Given the description of an element on the screen output the (x, y) to click on. 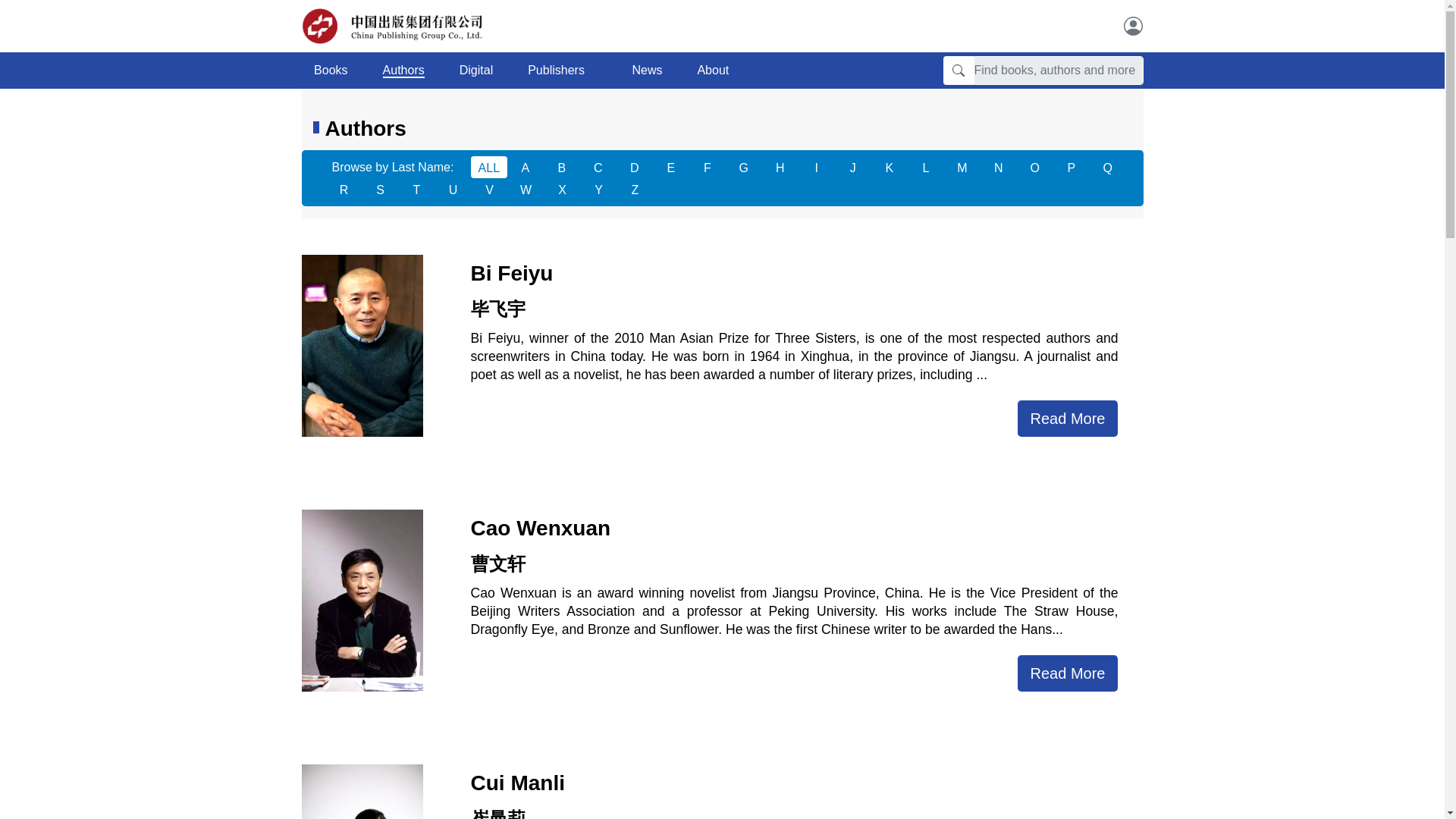
R (344, 188)
A (524, 167)
L (925, 167)
About (718, 70)
T (416, 188)
ALL (488, 167)
Publishers (561, 70)
H (779, 167)
S (380, 188)
Authors (403, 70)
